Given the description of an element on the screen output the (x, y) to click on. 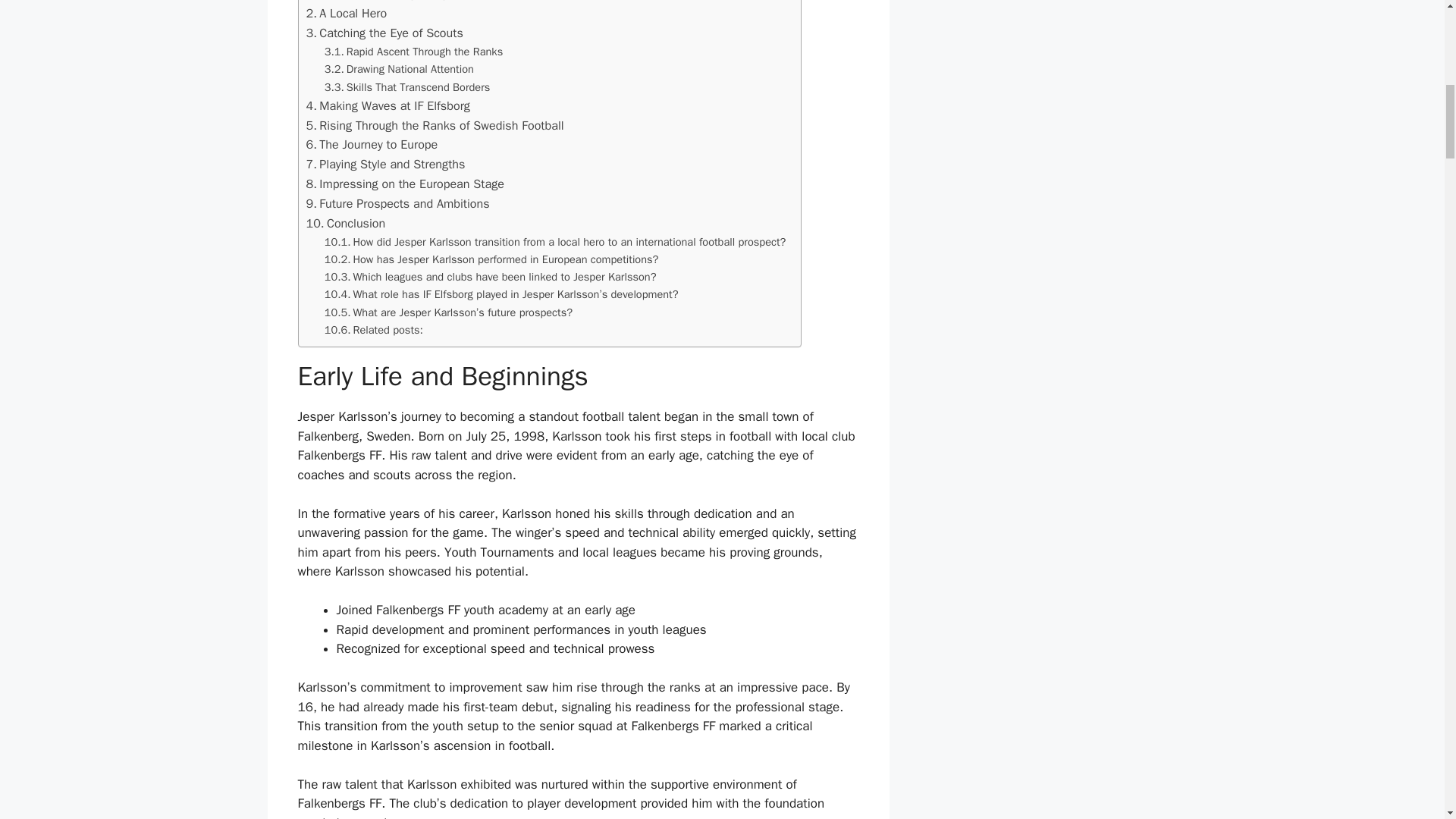
Playing Style and Strengths (385, 164)
How has Jesper Karlsson performed in European competitions? (491, 259)
Conclusion (345, 223)
Early Life and Beginnings (378, 2)
Playing Style and Strengths (385, 164)
Drawing National Attention (399, 68)
Skills That Transcend Borders (407, 87)
The Journey to Europe (371, 144)
Rapid Ascent Through the Ranks (413, 51)
